Given the description of an element on the screen output the (x, y) to click on. 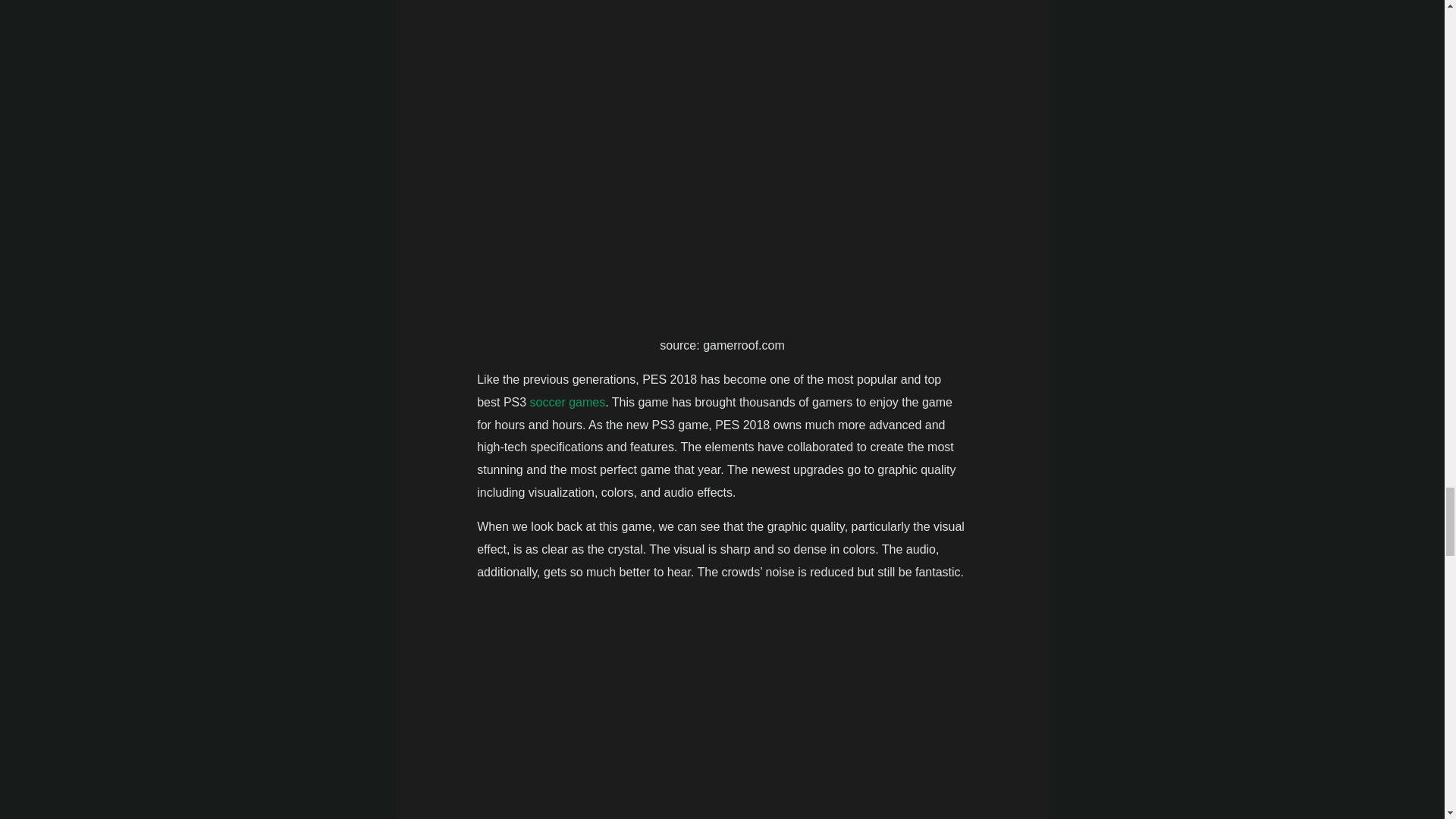
soccer games (567, 401)
